Given the description of an element on the screen output the (x, y) to click on. 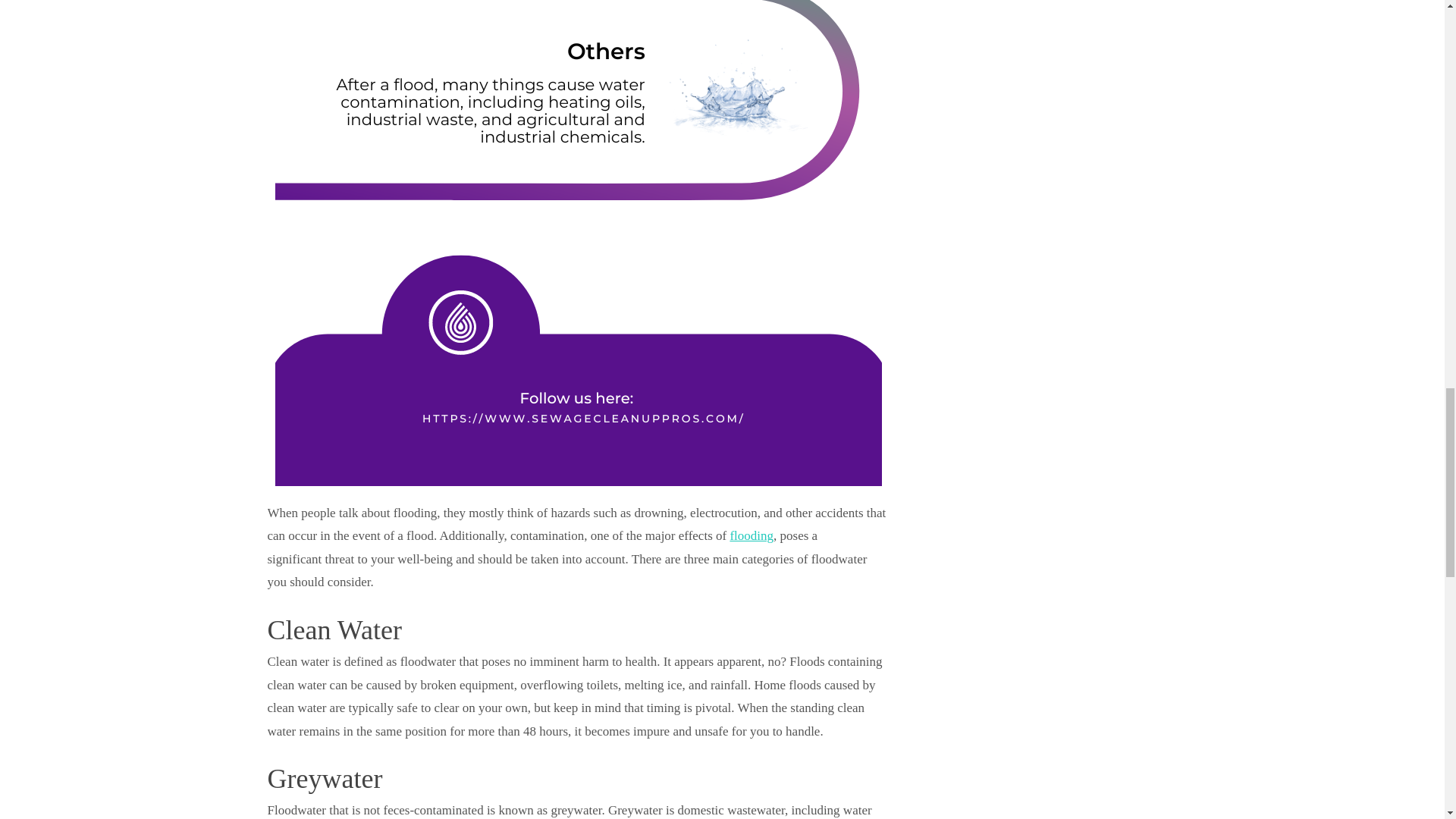
flooding (751, 535)
